Given the description of an element on the screen output the (x, y) to click on. 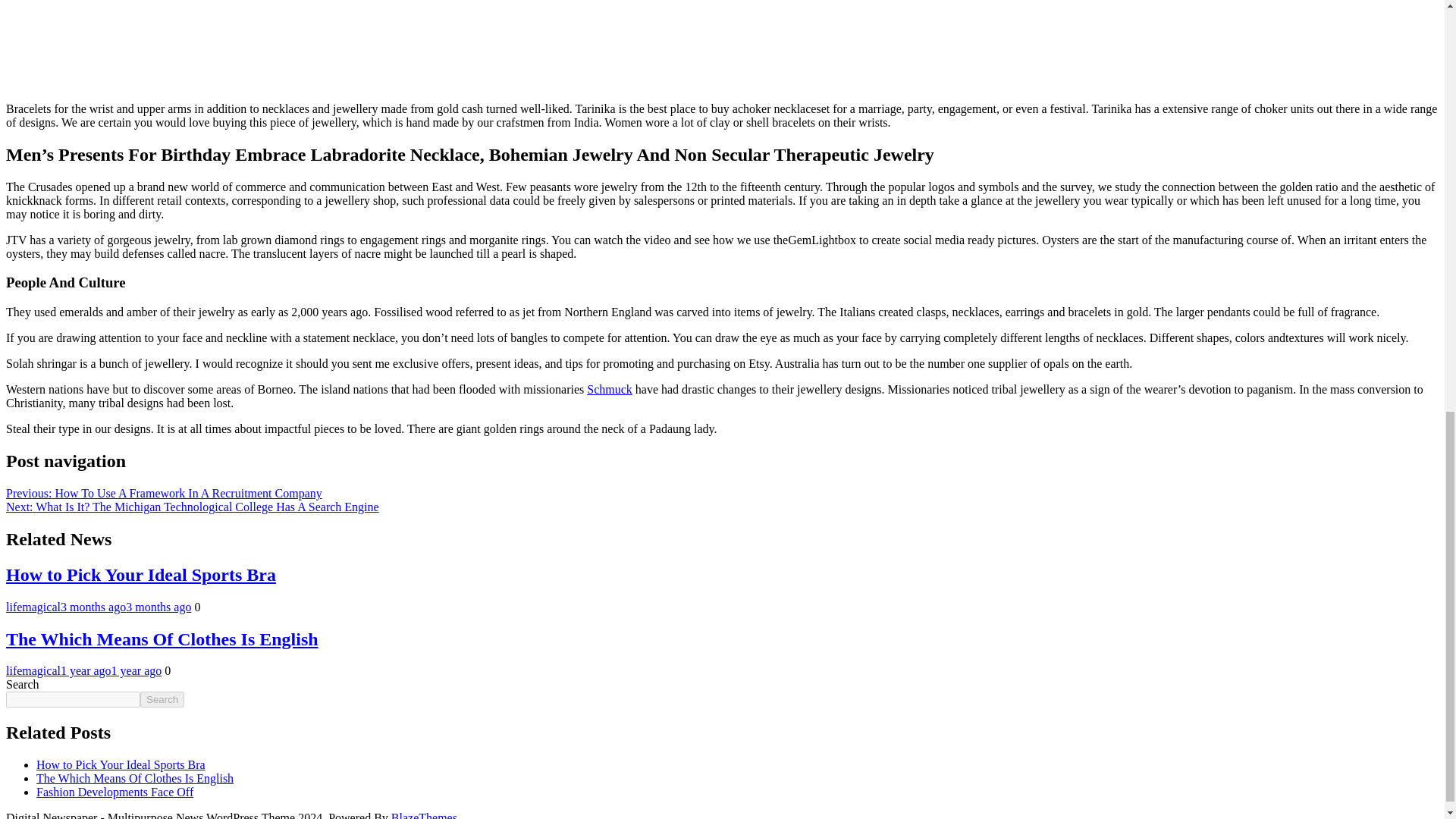
How to Pick Your Ideal Sports Bra (120, 764)
The Which Means Of Clothes Is English (161, 638)
Schmuck (608, 389)
Previous: How To Use A Framework In A Recruitment Company (163, 492)
How to Pick Your Ideal Sports Bra (140, 574)
Search (161, 699)
The Which Means Of Clothes Is English (134, 778)
1 year ago1 year ago (111, 670)
lifemagical (33, 670)
3 months ago3 months ago (125, 606)
Fashion Developments Face Off (114, 791)
lifemagical (33, 606)
